Given the description of an element on the screen output the (x, y) to click on. 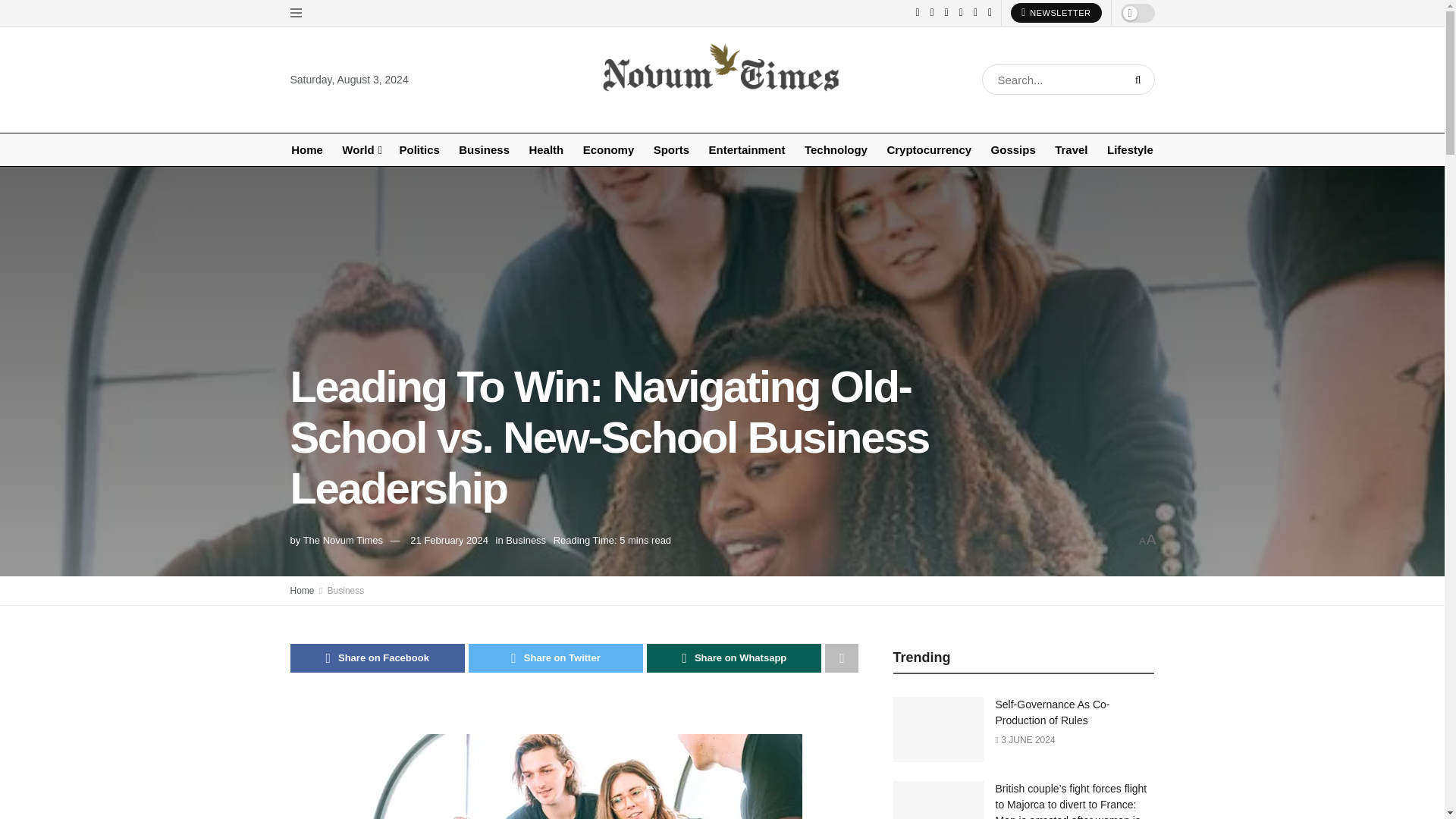
World (360, 149)
Lifestyle (1129, 149)
Politics (419, 149)
Business (484, 149)
Sports (671, 149)
Travel (1070, 149)
Economy (607, 149)
Technology (836, 149)
Health (545, 149)
NEWSLETTER (1055, 12)
Entertainment (746, 149)
Cryptocurrency (928, 149)
Home (306, 149)
Gossips (1013, 149)
